Given the description of an element on the screen output the (x, y) to click on. 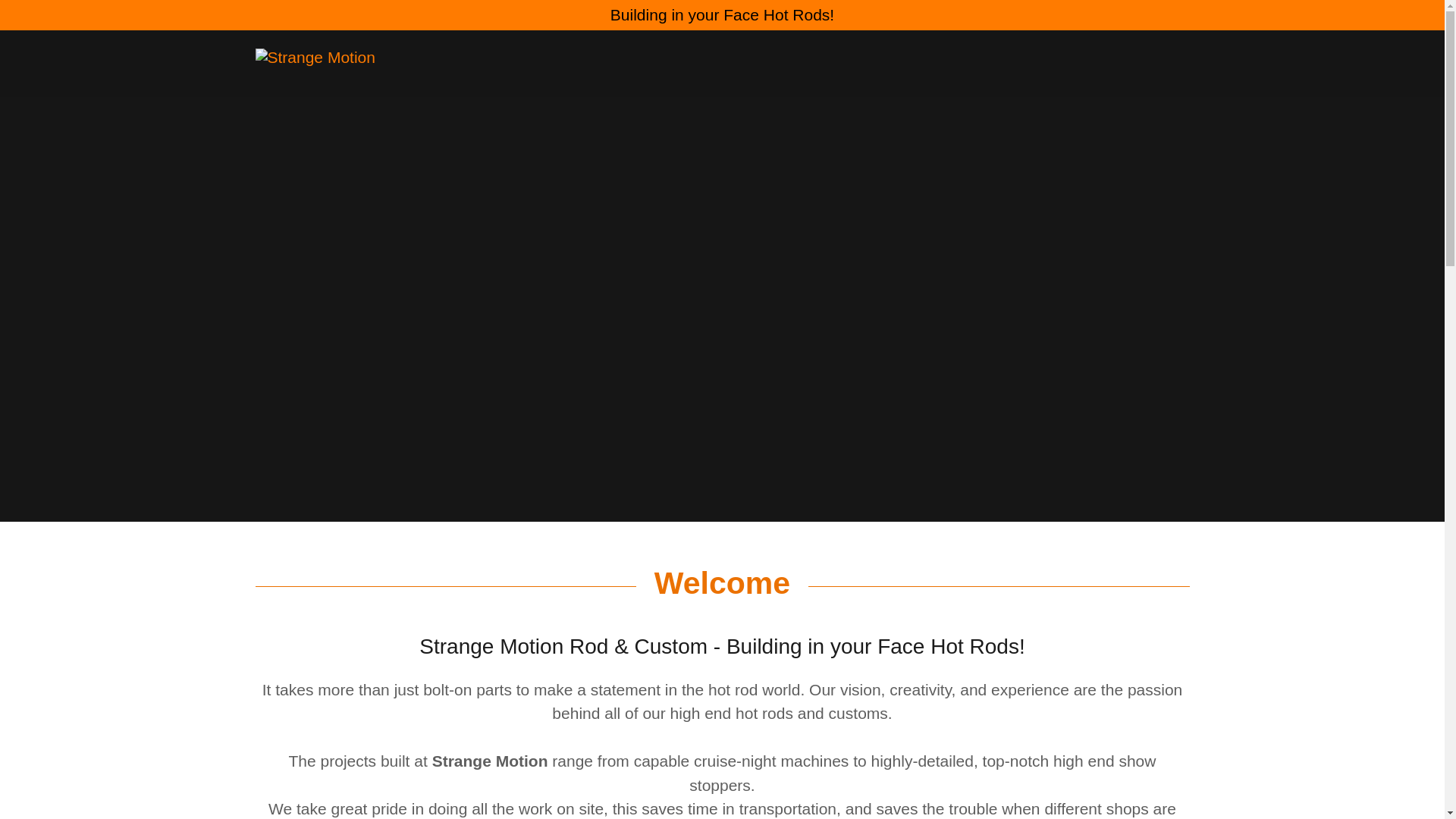
Strange Motion (370, 55)
